Given the description of an element on the screen output the (x, y) to click on. 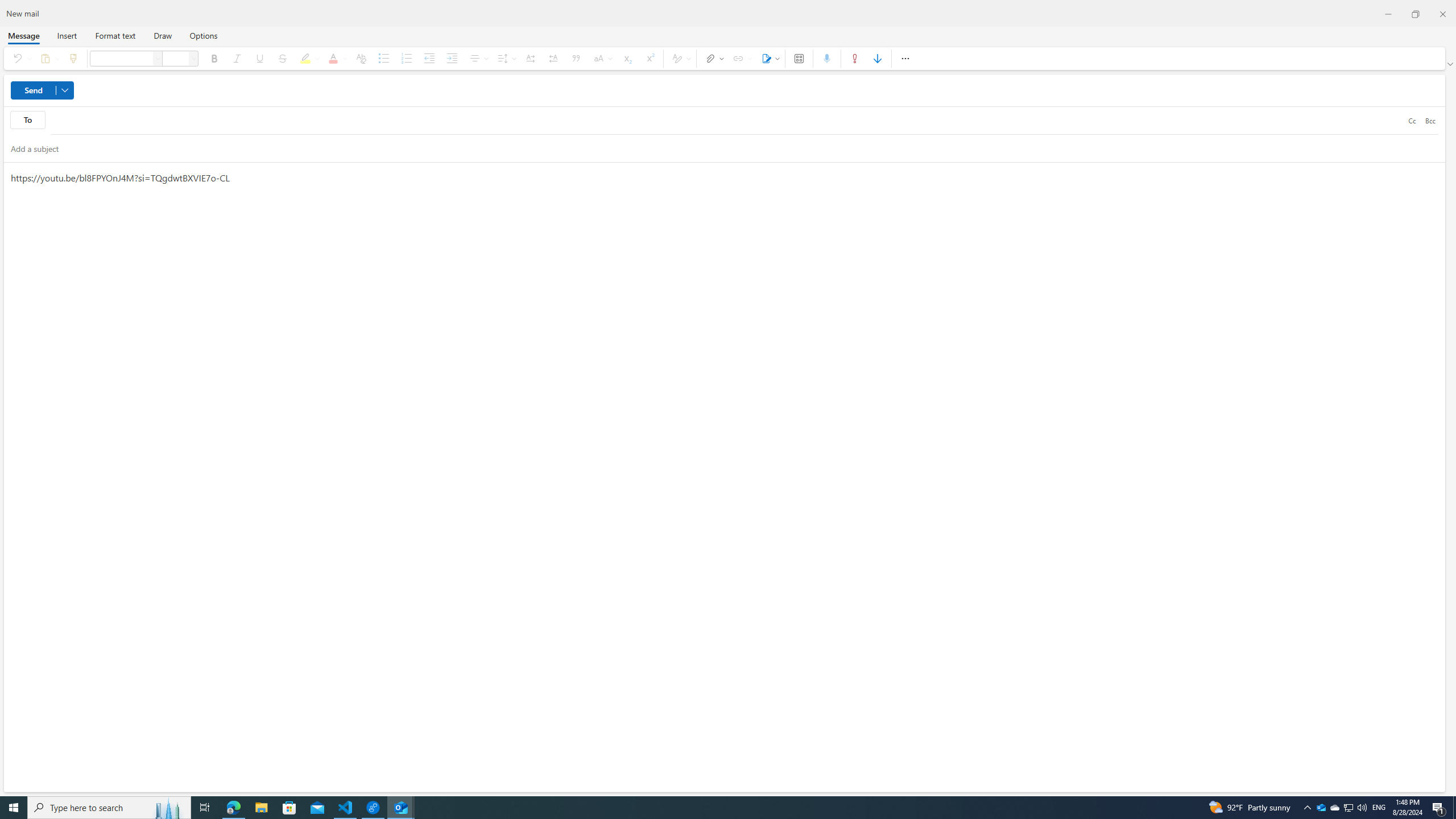
Ribbon display options (1450, 63)
Increase indent (452, 58)
Font (121, 58)
Change case (601, 58)
Text highlight color (307, 58)
Dictate (826, 58)
Font size (193, 58)
Options (202, 35)
Styles (679, 58)
Apps (798, 58)
Insert (66, 35)
Send (42, 90)
Right-to-left (552, 58)
Bcc (1430, 120)
Subscript (626, 58)
